Given the description of an element on the screen output the (x, y) to click on. 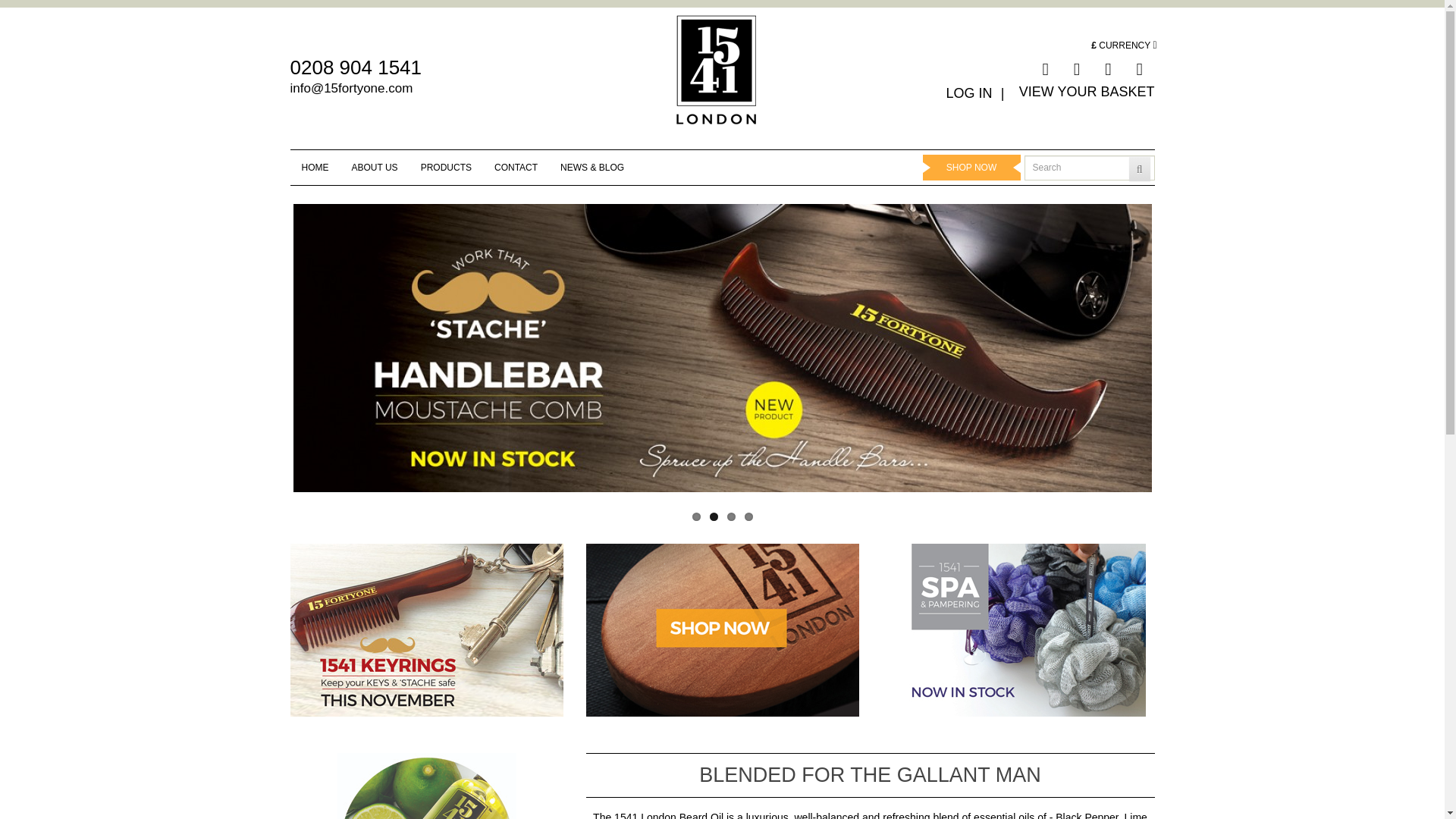
CONTACT Element type: text (516, 167)
1541 London Element type: hover (715, 81)
NEWS & BLOG Element type: text (592, 167)
SHOP NOW Element type: text (970, 167)
LOG IN Element type: text (968, 92)
ABOUT US Element type: text (373, 167)
| Element type: text (1005, 92)
PRODUCTS Element type: text (446, 167)
VIEW YOUR BASKET Element type: text (1086, 91)
HOME Element type: text (314, 167)
